Given the description of an element on the screen output the (x, y) to click on. 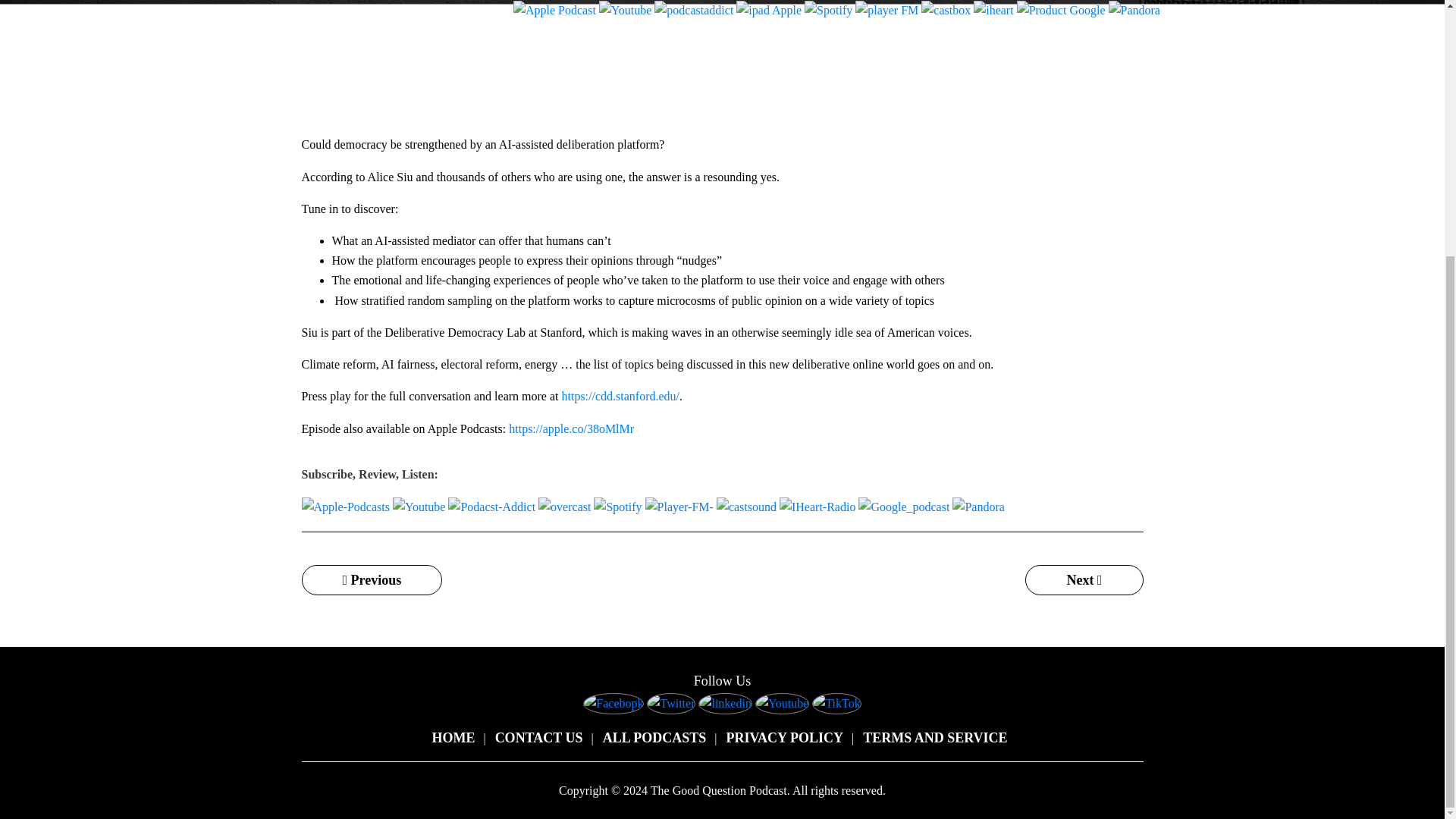
Pandora (1134, 10)
Podcast Addict (693, 10)
Youtube (625, 10)
Spotify (828, 10)
iHeartRadio (993, 10)
Castbox (946, 10)
Overcast (769, 10)
Player FM (887, 10)
Google Podcast (1060, 10)
Apple Podcast (554, 10)
